Given the description of an element on the screen output the (x, y) to click on. 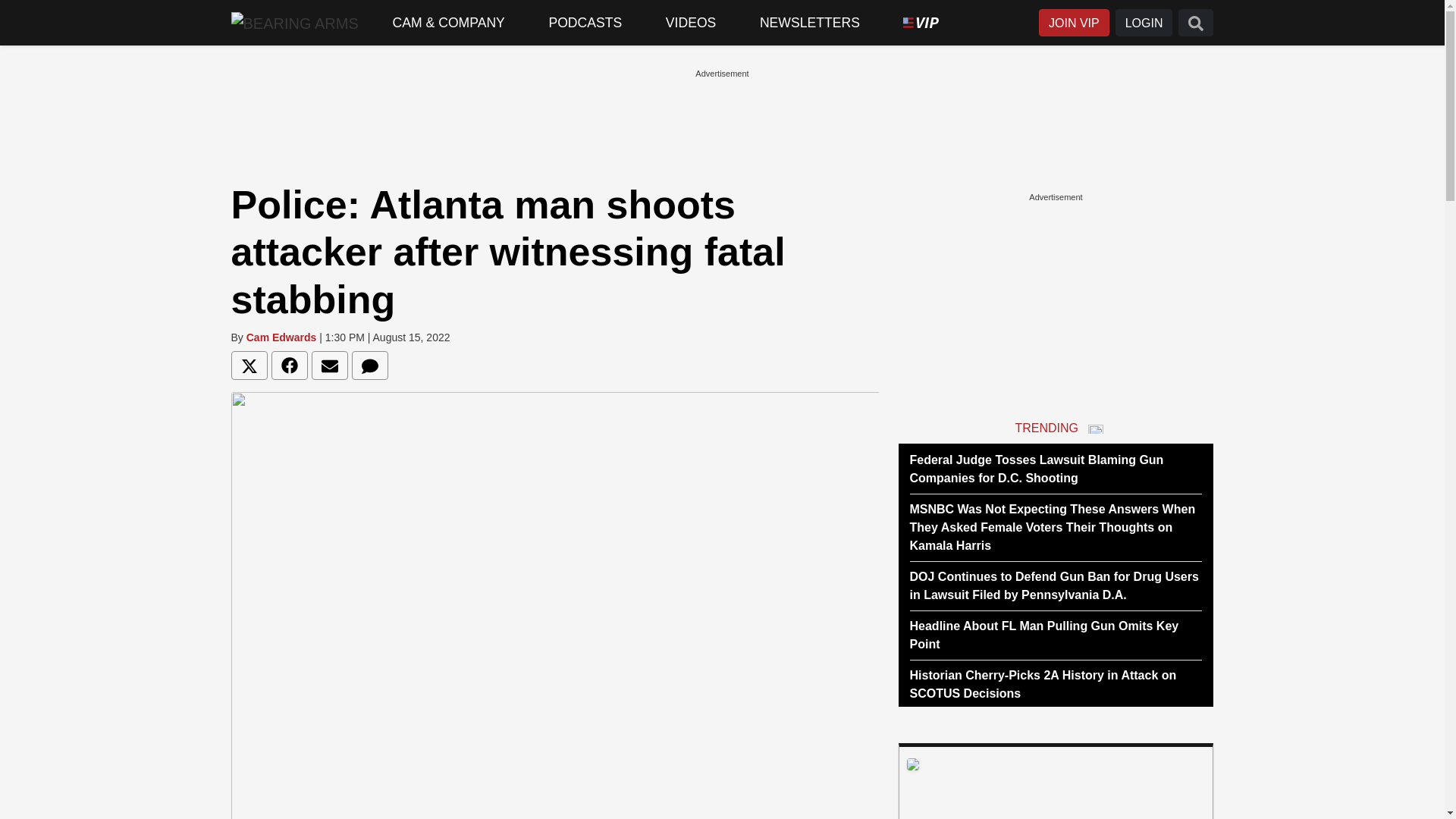
Login (1144, 22)
Bearing Arms (294, 22)
Newsletters (810, 22)
JOIN VIP (1074, 22)
Site Search (1194, 22)
VIDEOS (690, 22)
PODCASTS (585, 22)
Podcasts (585, 22)
Join VIP (1074, 22)
LOGIN (1144, 22)
NEWSLETTERS (810, 22)
VIP (920, 22)
Videos (690, 22)
